Given the description of an element on the screen output the (x, y) to click on. 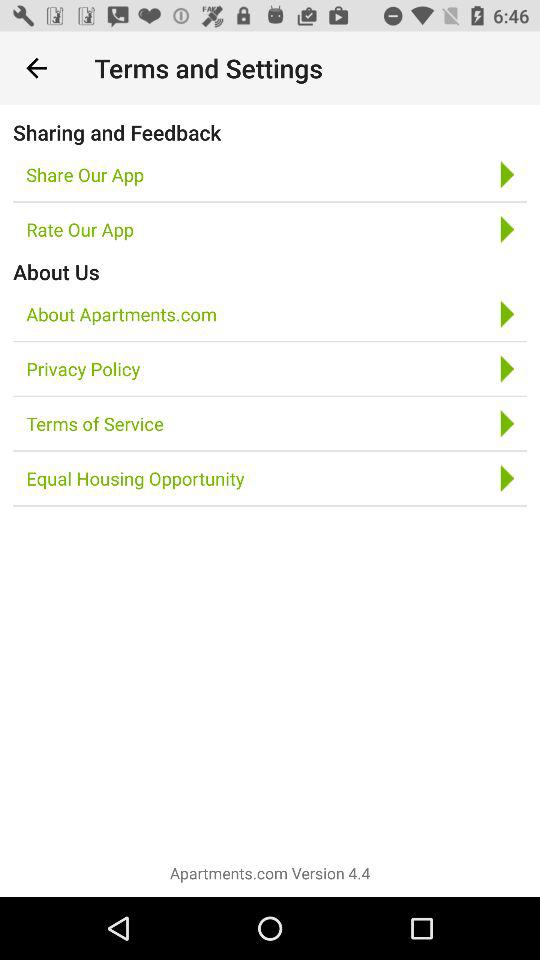
tap icon below rate our app item (56, 271)
